Given the description of an element on the screen output the (x, y) to click on. 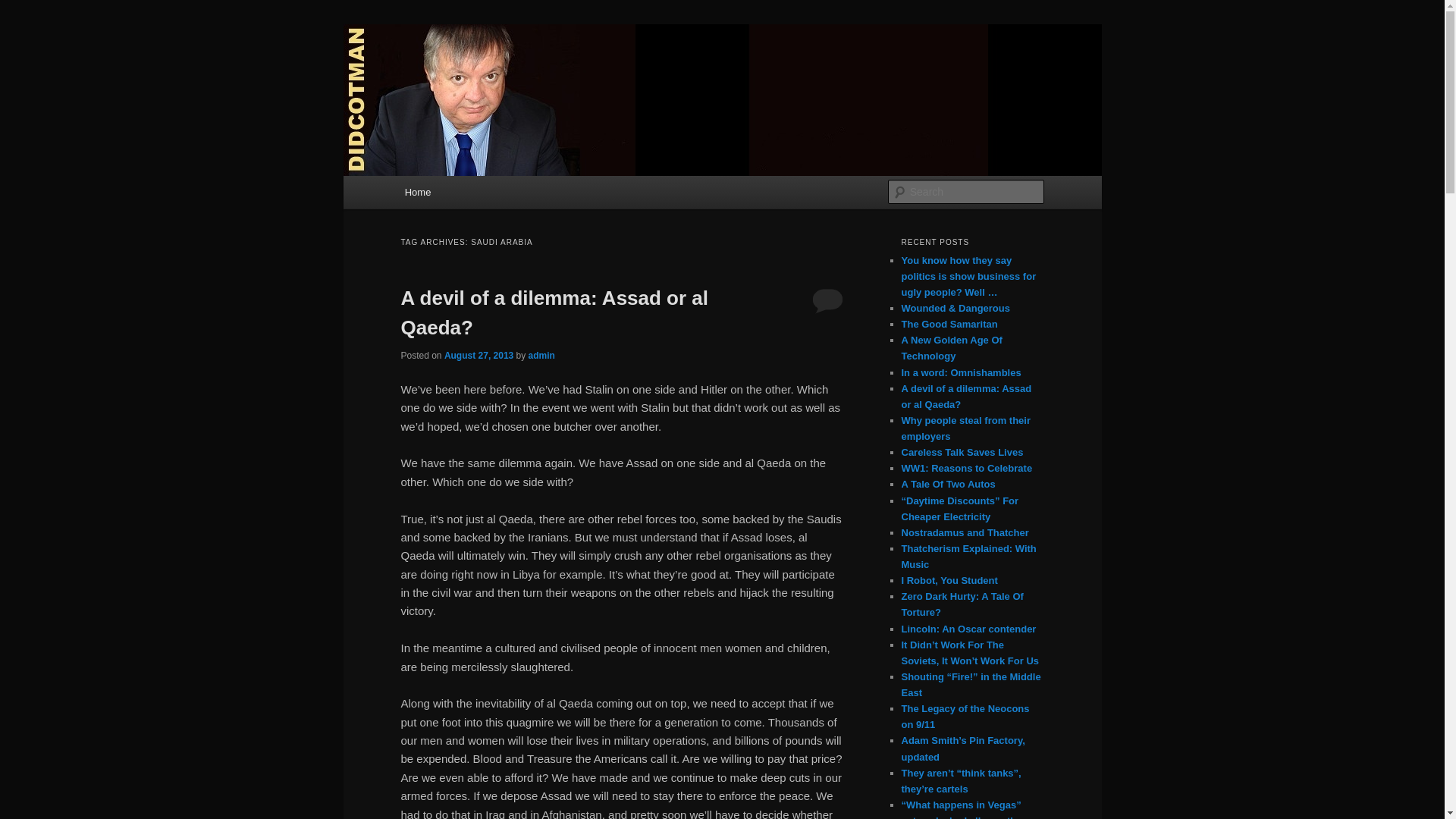
Thatcherism Explained: With Music (968, 556)
August 27, 2013 (478, 355)
I Robot, You Student (949, 580)
Search (24, 8)
Zero Dark Hurty: A Tale Of Torture? (962, 604)
The Good Samaritan (949, 324)
A Tale Of Two Autos (947, 483)
Nostradamus and Thatcher (964, 532)
Why people steal from their employers (965, 428)
Didcotman (459, 78)
Lincoln: An Oscar contender (968, 628)
A New Golden Age Of Technology (951, 347)
Careless Talk Saves Lives (962, 451)
admin (541, 355)
